Given the description of an element on the screen output the (x, y) to click on. 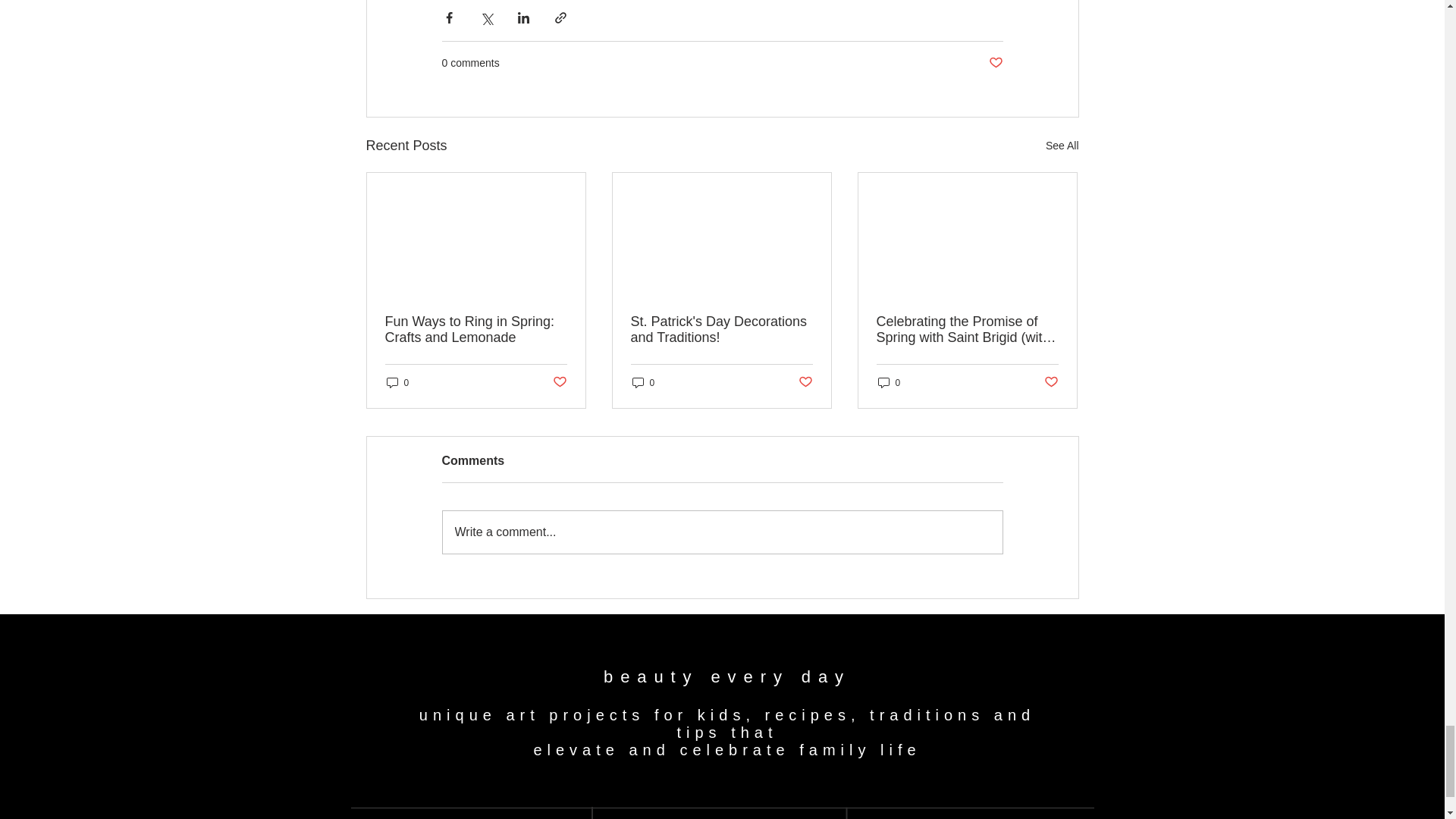
Write a comment... (722, 532)
Post not marked as liked (1050, 382)
See All (1061, 146)
Post not marked as liked (995, 63)
Post not marked as liked (558, 382)
Fun Ways to Ring in Spring: Crafts and Lemonade (476, 329)
0 (397, 382)
0 (889, 382)
St. Patrick's Day Decorations and Traditions! (721, 329)
Post not marked as liked (804, 382)
0 (643, 382)
